Given the description of an element on the screen output the (x, y) to click on. 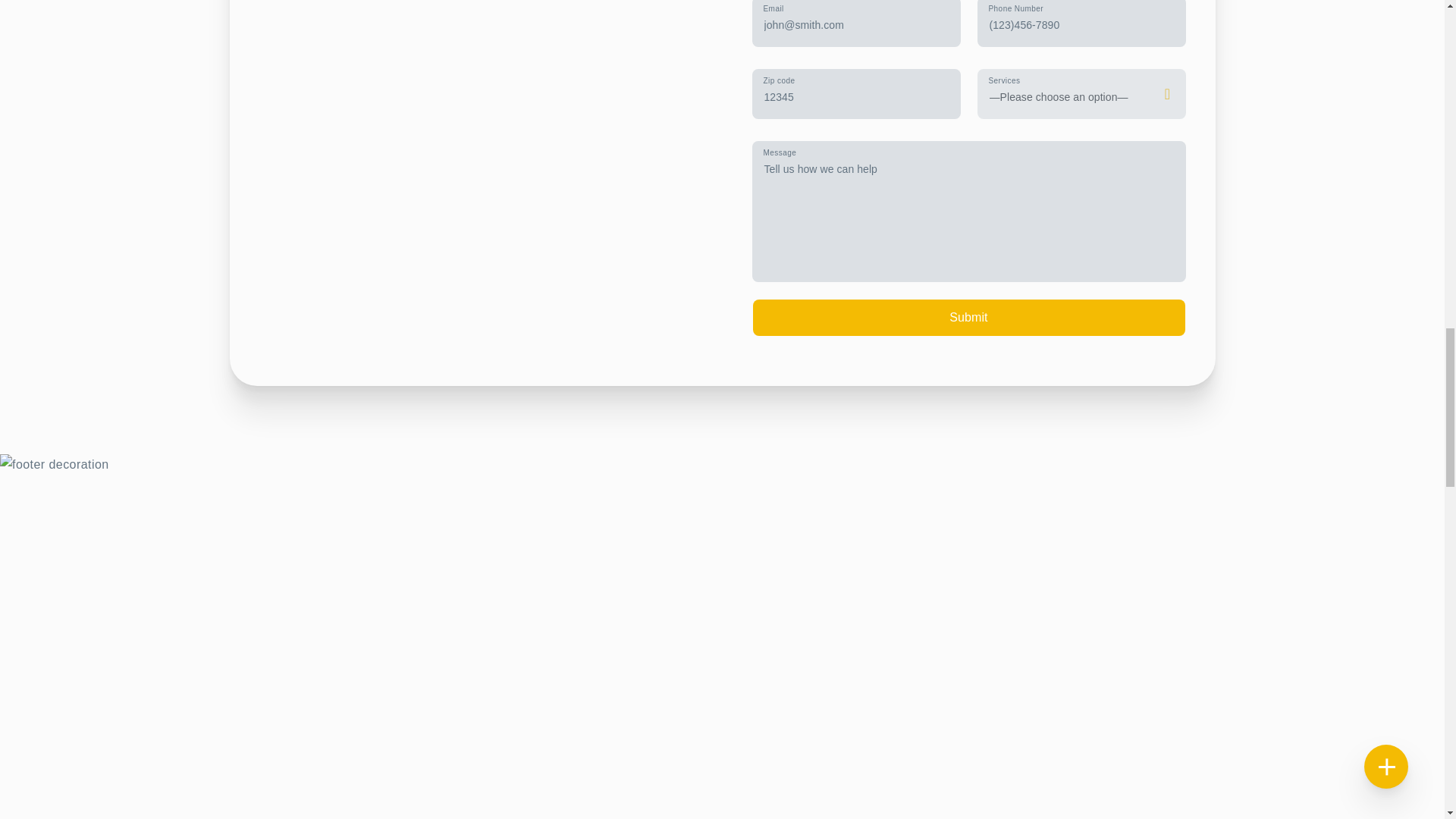
Submit (968, 316)
Submit (968, 316)
